Given the description of an element on the screen output the (x, y) to click on. 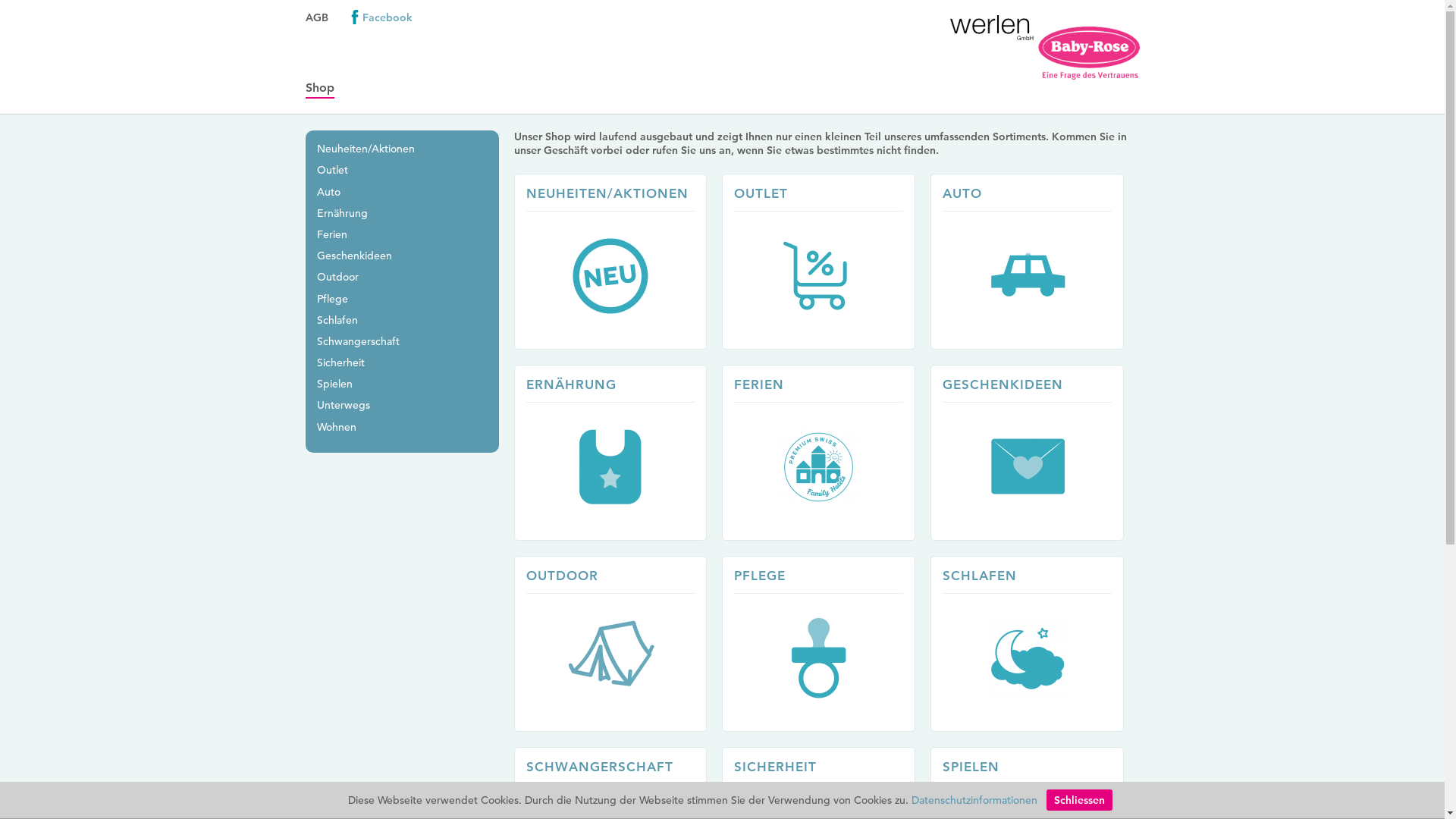
Geschenkideen Element type: text (354, 255)
Ferien Element type: text (331, 234)
AGB Element type: text (315, 17)
Schliessen Element type: text (1079, 799)
Schlafen Element type: text (336, 319)
Sicherheit Element type: text (340, 362)
AUTO Element type: text (1034, 261)
Neuheiten/Aktionen Element type: text (365, 148)
Spielen Element type: text (334, 383)
Schwangerschaft Element type: text (357, 341)
NEUHEITEN/AKTIONEN Element type: text (607, 192)
Pflege Element type: text (332, 297)
Shop Element type: text (318, 88)
GESCHENKIDEEN Element type: text (1002, 384)
AUTO Element type: text (962, 192)
OUTDOOR Element type: text (562, 575)
SCHLAFEN Element type: text (1034, 643)
SPIELEN Element type: text (970, 766)
SCHLAFEN Element type: text (979, 575)
FERIEN Element type: text (759, 384)
SCHWANGERSCHAFT Element type: text (599, 766)
PFLEGE Element type: text (825, 643)
FERIEN Element type: text (825, 452)
Auto Element type: text (328, 191)
OUTDOOR Element type: text (618, 643)
Wohnen Element type: text (336, 426)
Datenschutzinformationen Element type: text (974, 799)
Outlet Element type: text (332, 169)
OUTLET Element type: text (760, 192)
Unterwegs Element type: text (343, 404)
Outdoor Element type: text (337, 276)
NEUHEITEN/AKTIONEN Element type: text (618, 261)
Zur Startseite Element type: hover (1044, 47)
Facebook Element type: text (380, 17)
SICHERHEIT Element type: text (775, 766)
PFLEGE Element type: text (759, 575)
GESCHENKIDEEN Element type: text (1034, 452)
OUTLET Element type: text (825, 261)
